Given the description of an element on the screen output the (x, y) to click on. 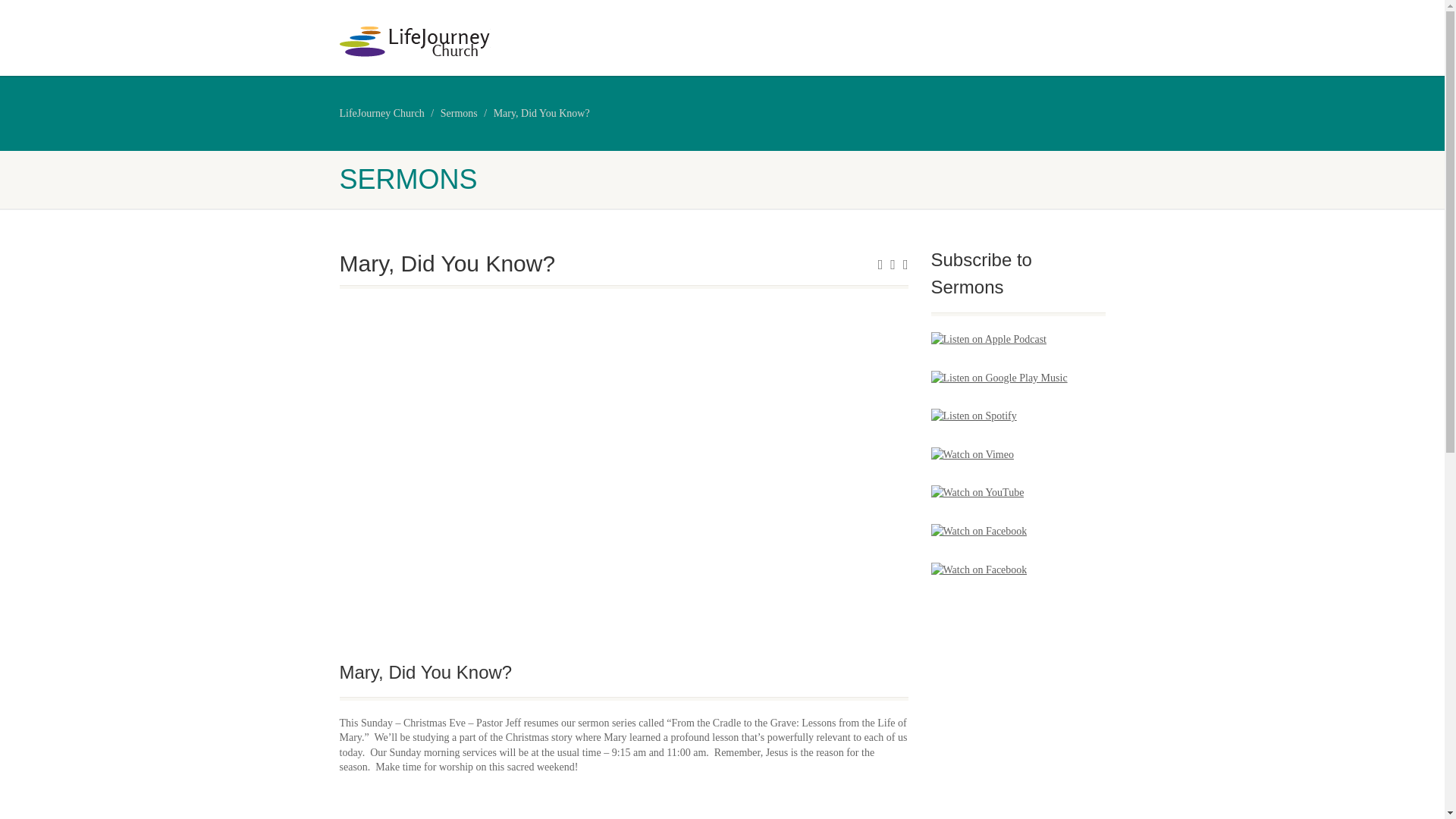
Go to Mary, Did You Know?. (541, 112)
Sermons (459, 112)
Go to LifeJourney Church. (382, 112)
Mary, Did You Know? (541, 112)
Go to Sermons. (459, 112)
LifeJourney Church (382, 112)
Logo (459, 41)
